Given the description of an element on the screen output the (x, y) to click on. 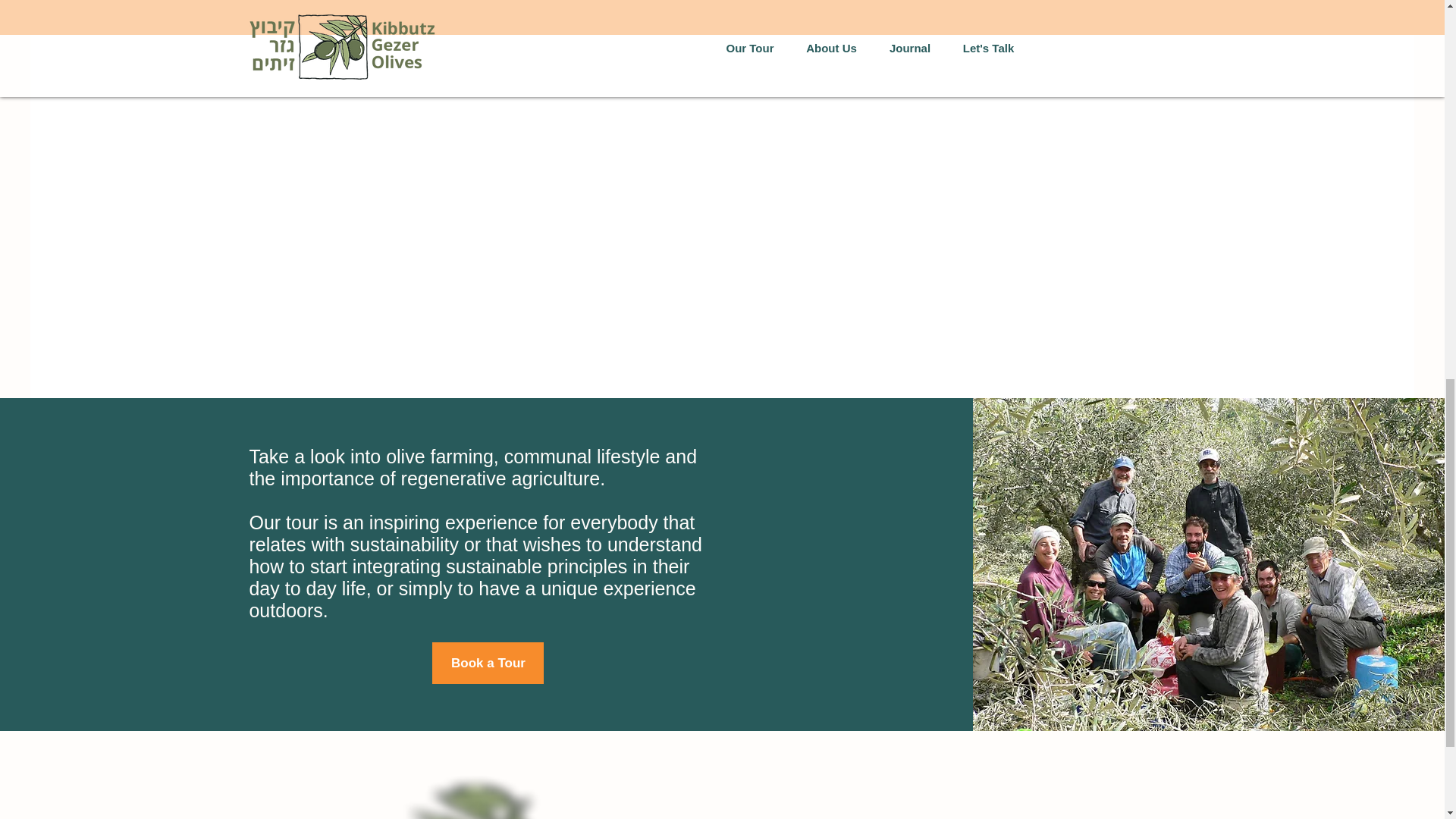
Book a Tour (487, 662)
Asset 2.png (467, 796)
